Given the description of an element on the screen output the (x, y) to click on. 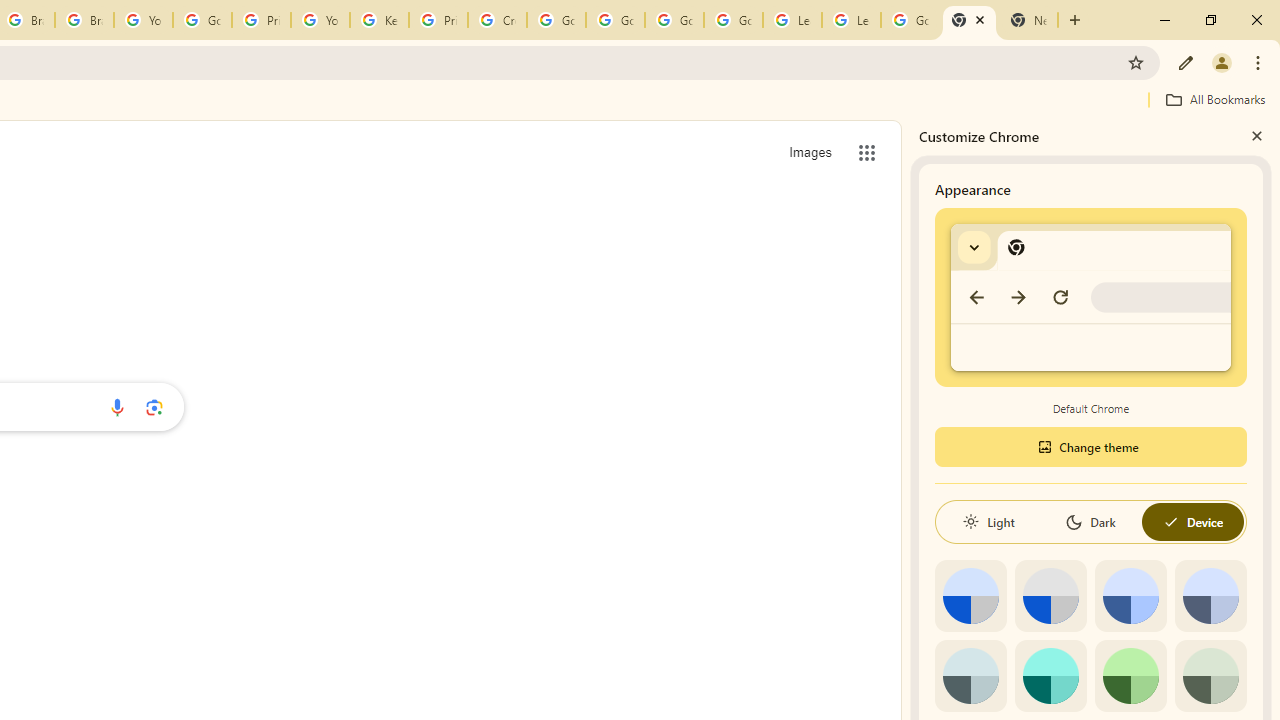
Google Account (909, 20)
AutomationID: baseSvg (1170, 521)
Grey default color (1050, 596)
Dark (1090, 521)
Cool grey (1210, 596)
Google Account Help (201, 20)
Blue (1130, 596)
Green (1130, 676)
Change theme (1090, 446)
